Given the description of an element on the screen output the (x, y) to click on. 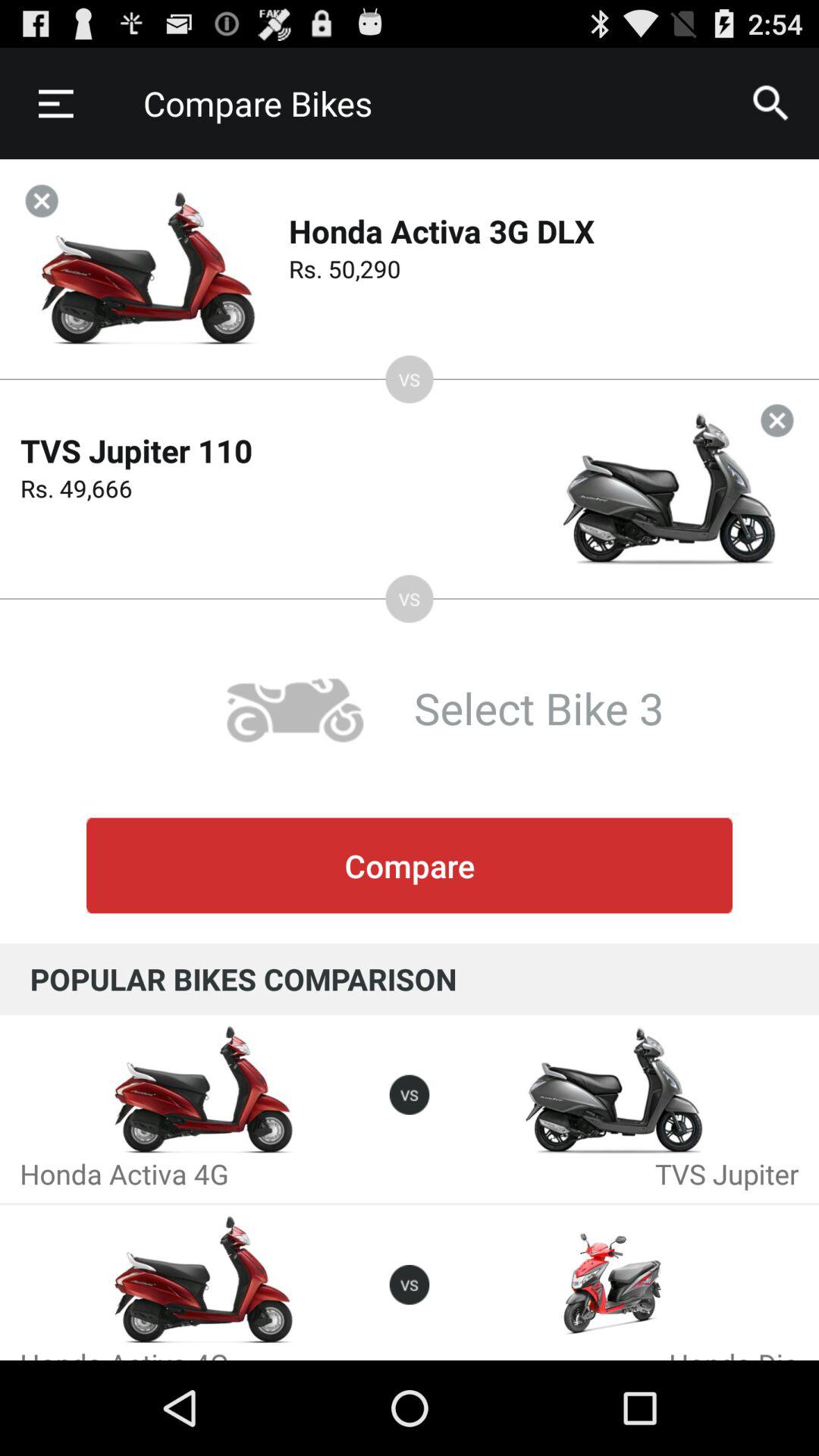
press the item to the left of the compare bikes item (55, 103)
